Given the description of an element on the screen output the (x, y) to click on. 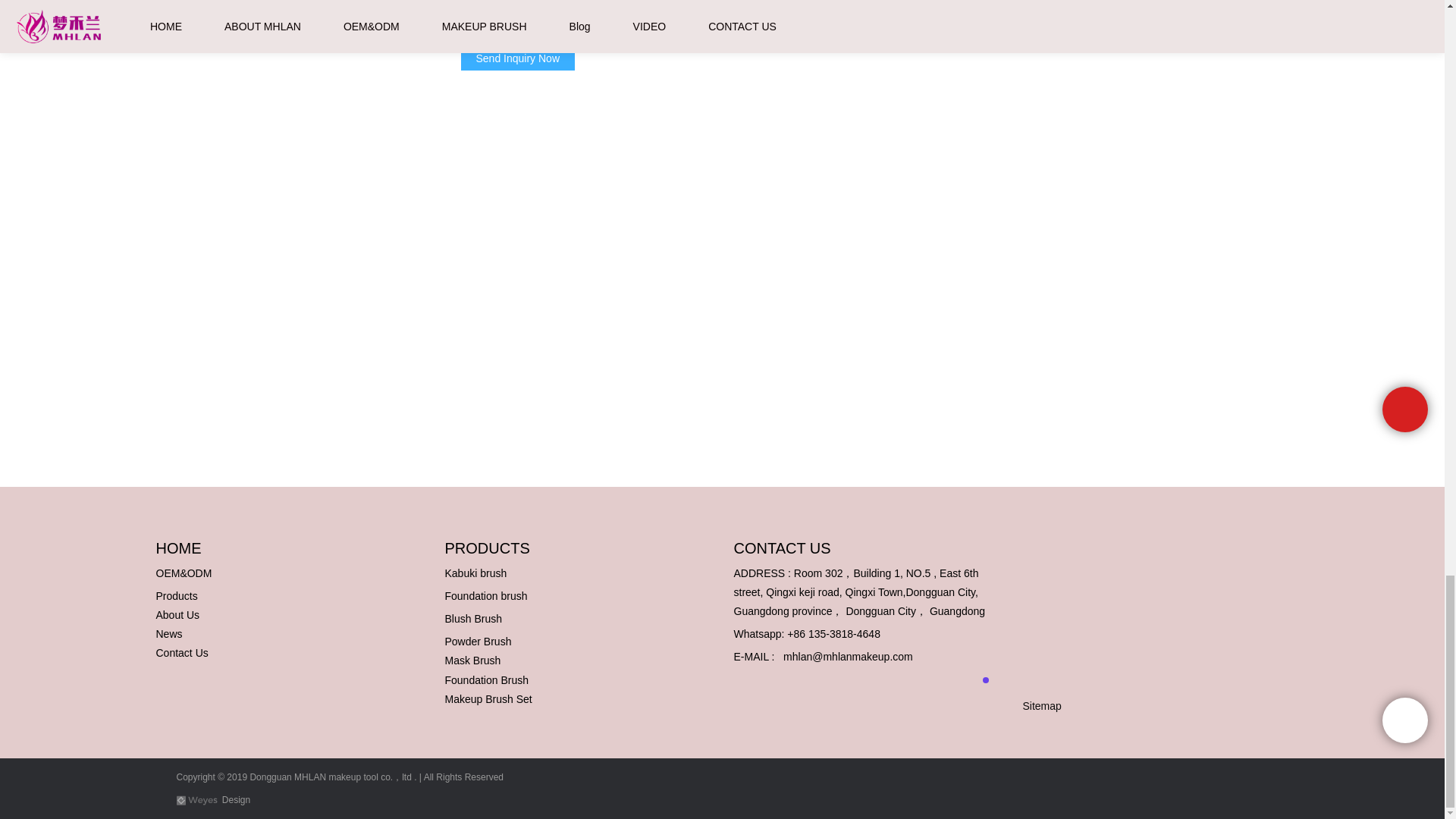
Send Inquiry Now (518, 57)
News (169, 633)
About Us (177, 614)
Products (176, 595)
